Given the description of an element on the screen output the (x, y) to click on. 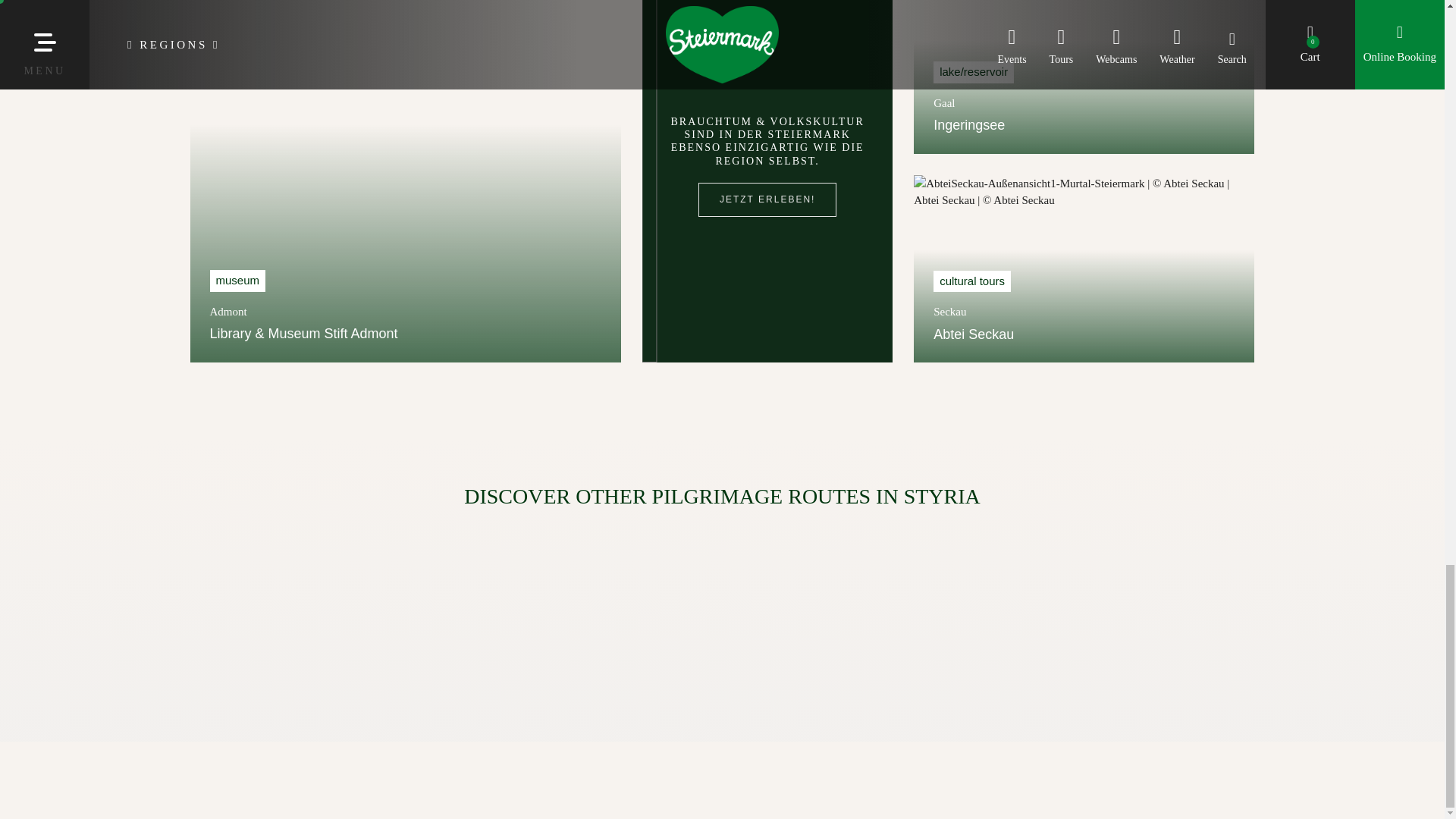
JETZT ERLEBEN! (766, 199)
Jetzt erleben! (766, 199)
Abtei Seckau (973, 334)
Ingeringsee (968, 124)
